Given the description of an element on the screen output the (x, y) to click on. 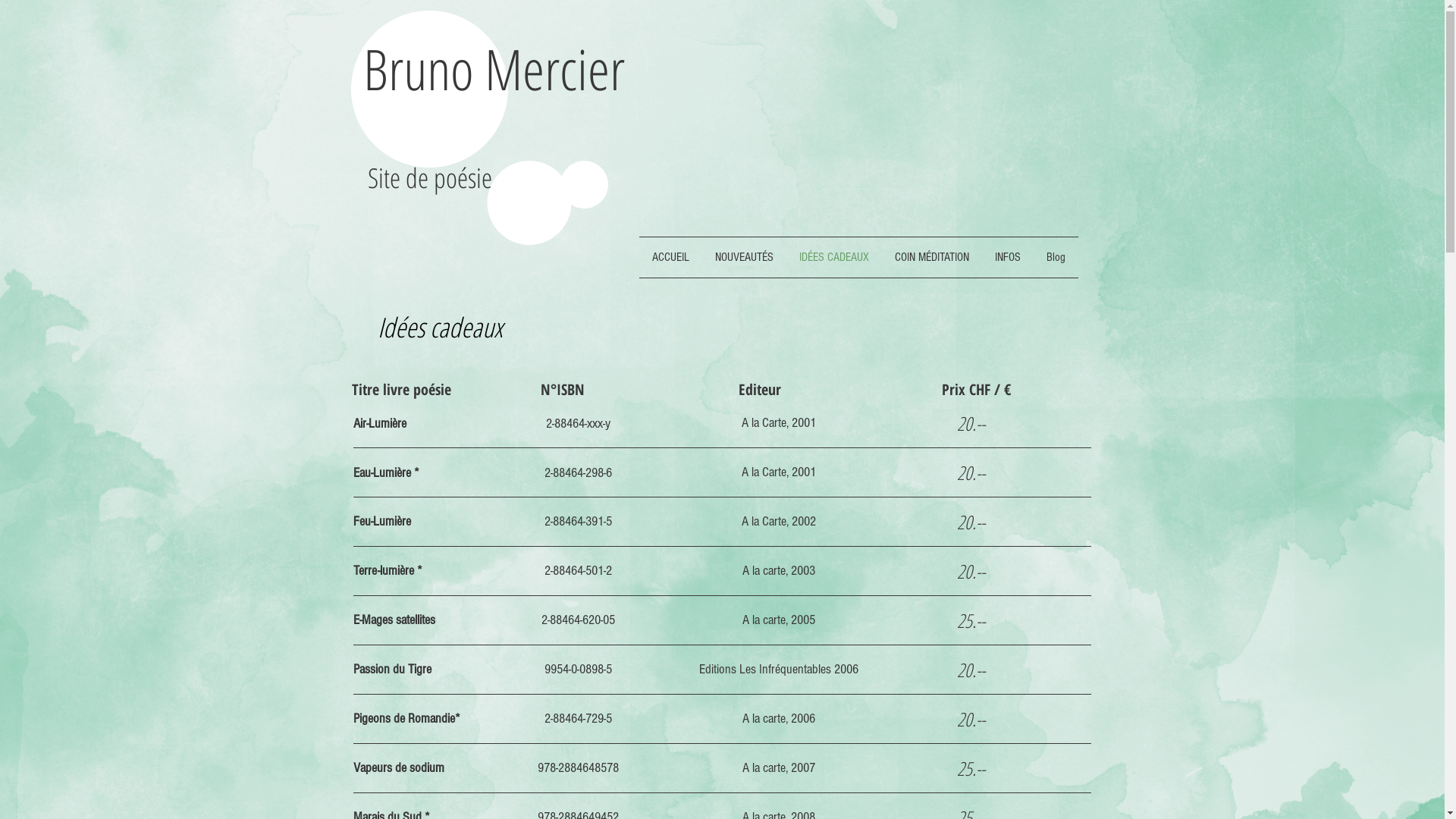
ACCUEIL Element type: text (669, 257)
Blog Element type: text (1054, 257)
INFOS Element type: text (1006, 257)
